Given the description of an element on the screen output the (x, y) to click on. 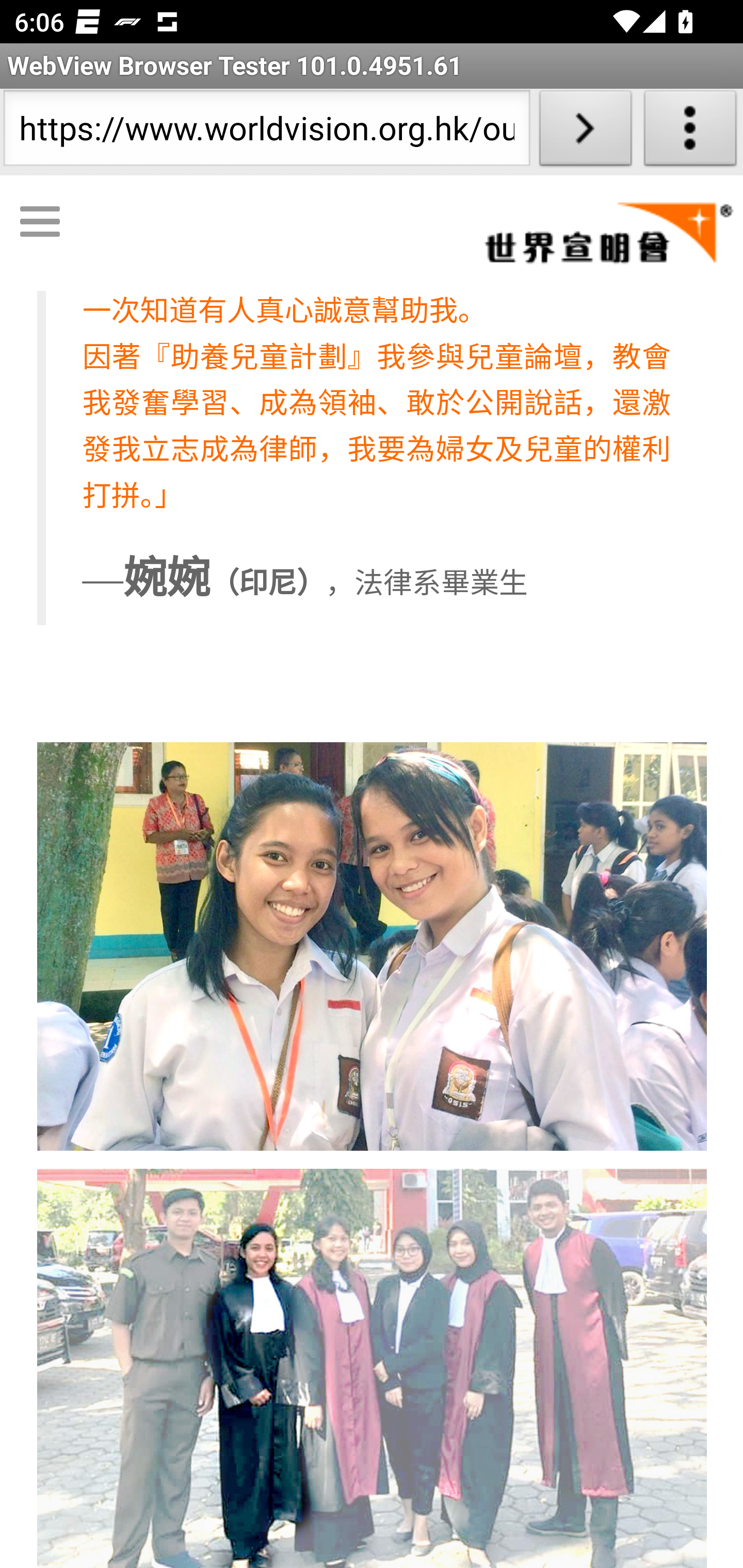
Load URL (585, 132)
About WebView (690, 132)
